Given the description of an element on the screen output the (x, y) to click on. 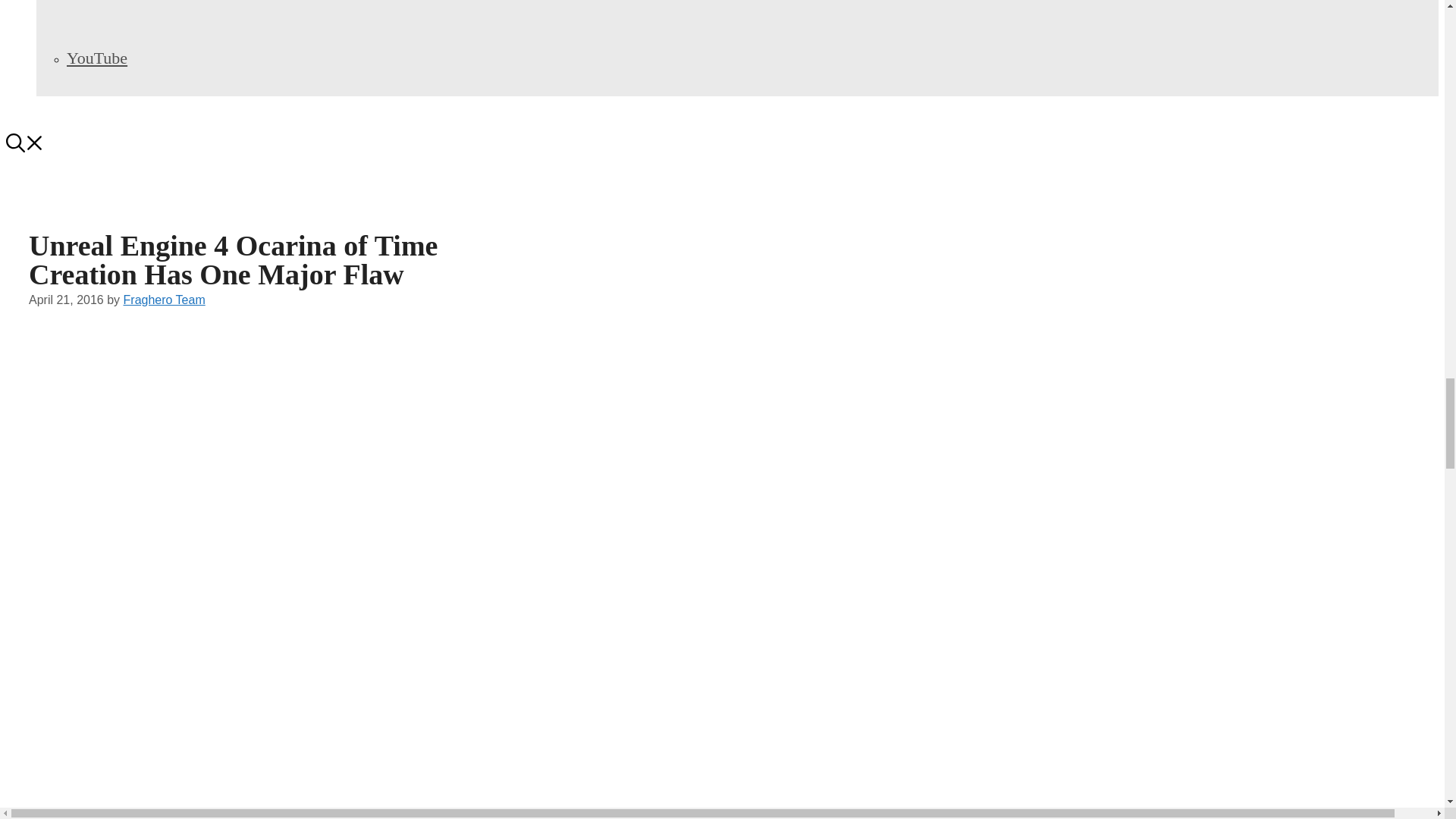
View all posts by Fraghero Team (164, 299)
